Given the description of an element on the screen output the (x, y) to click on. 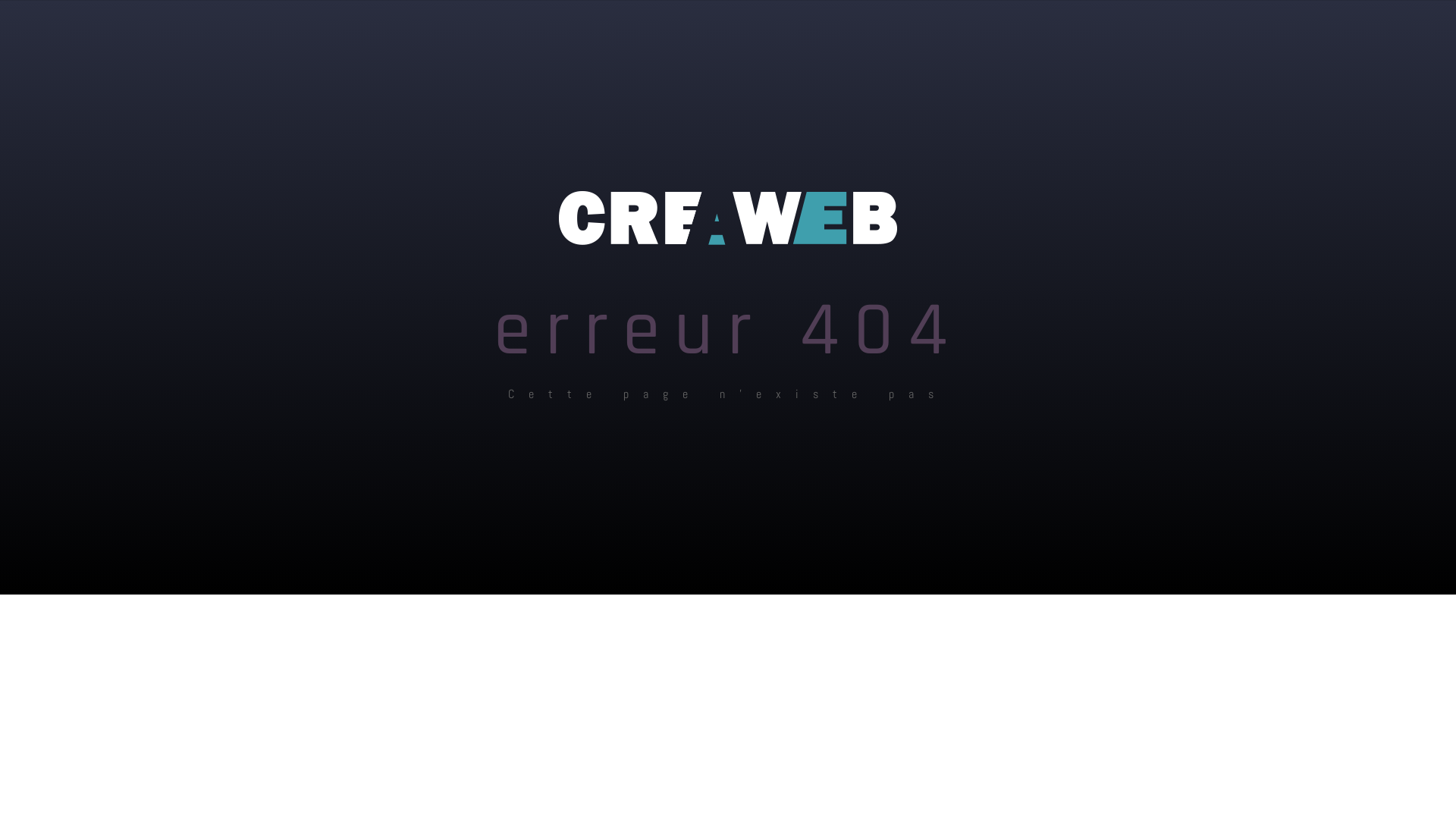
LOGO Element type: hover (727, 217)
